Given the description of an element on the screen output the (x, y) to click on. 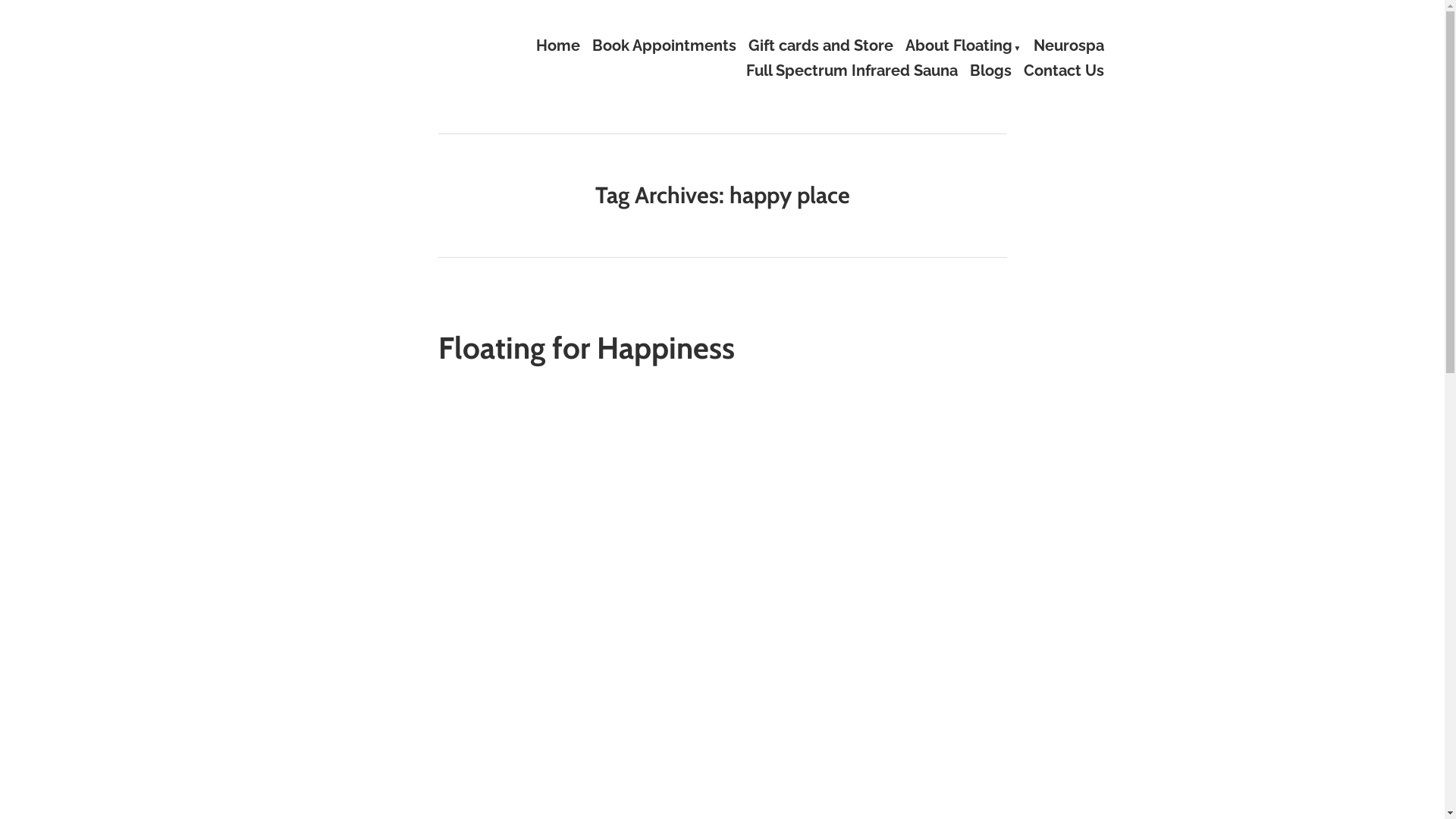
Blogs Element type: text (989, 70)
About Floating Element type: text (963, 46)
Floating for Happiness Element type: text (586, 347)
Home Element type: text (558, 46)
Gift cards and Store Element type: text (820, 46)
Neurospa Element type: text (1067, 46)
Book Appointments Element type: text (664, 46)
Full Spectrum Infrared Sauna Element type: text (851, 70)
Bliss Float Centre Element type: text (440, 95)
Contact Us Element type: text (1063, 70)
